Given the description of an element on the screen output the (x, y) to click on. 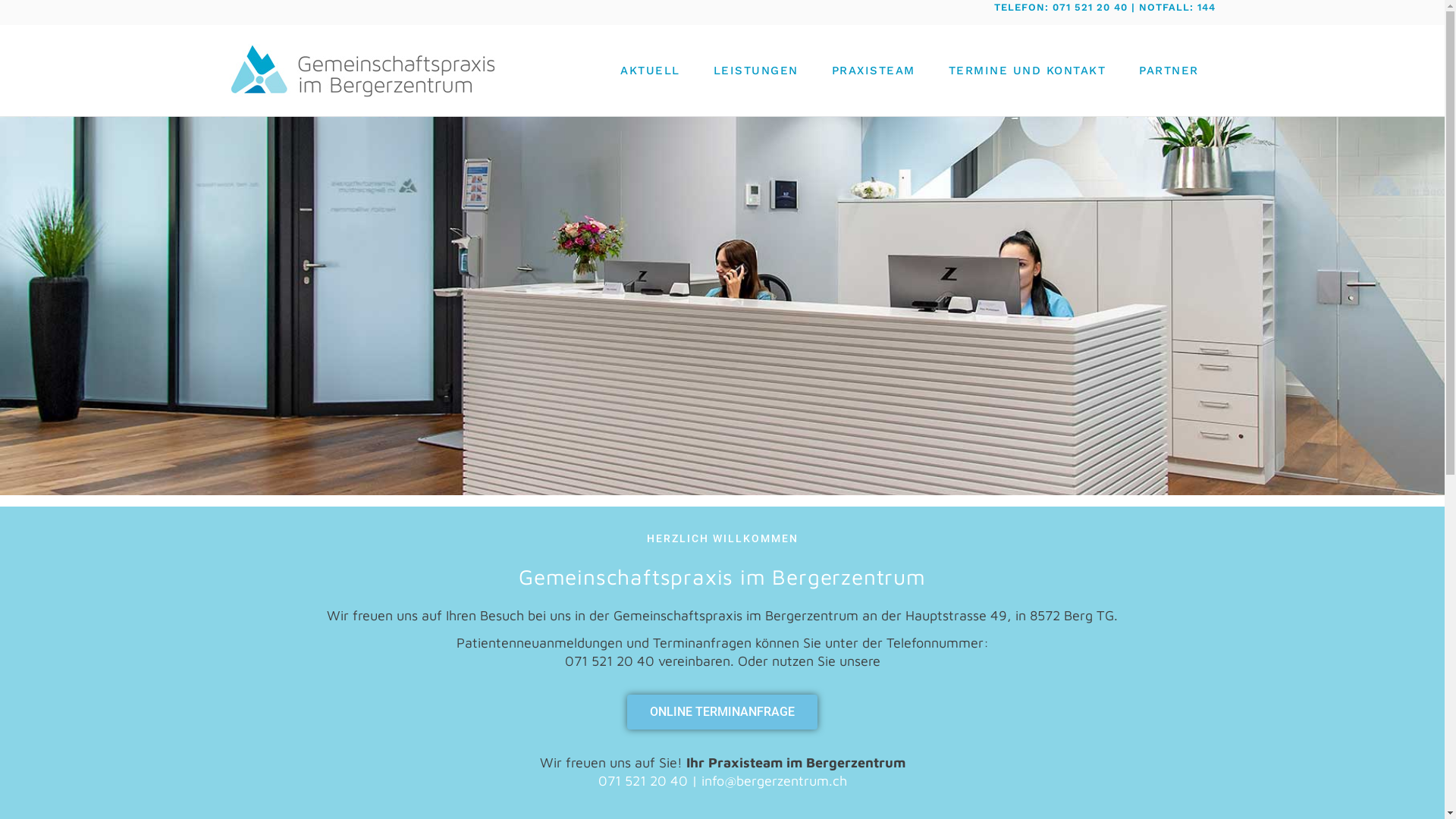
ONLINE TERMINANFRAGE Element type: text (722, 711)
LEISTUNGEN Element type: text (755, 70)
071 521 20 40 Element type: text (642, 780)
info@bergerzentrum.c Element type: text (769, 780)
PRAXISTEAM Element type: text (872, 70)
PARTNER Element type: text (1168, 70)
AKTUELL Element type: text (649, 70)
TERMINE UND KONTAKT Element type: text (1026, 70)
